Given the description of an element on the screen output the (x, y) to click on. 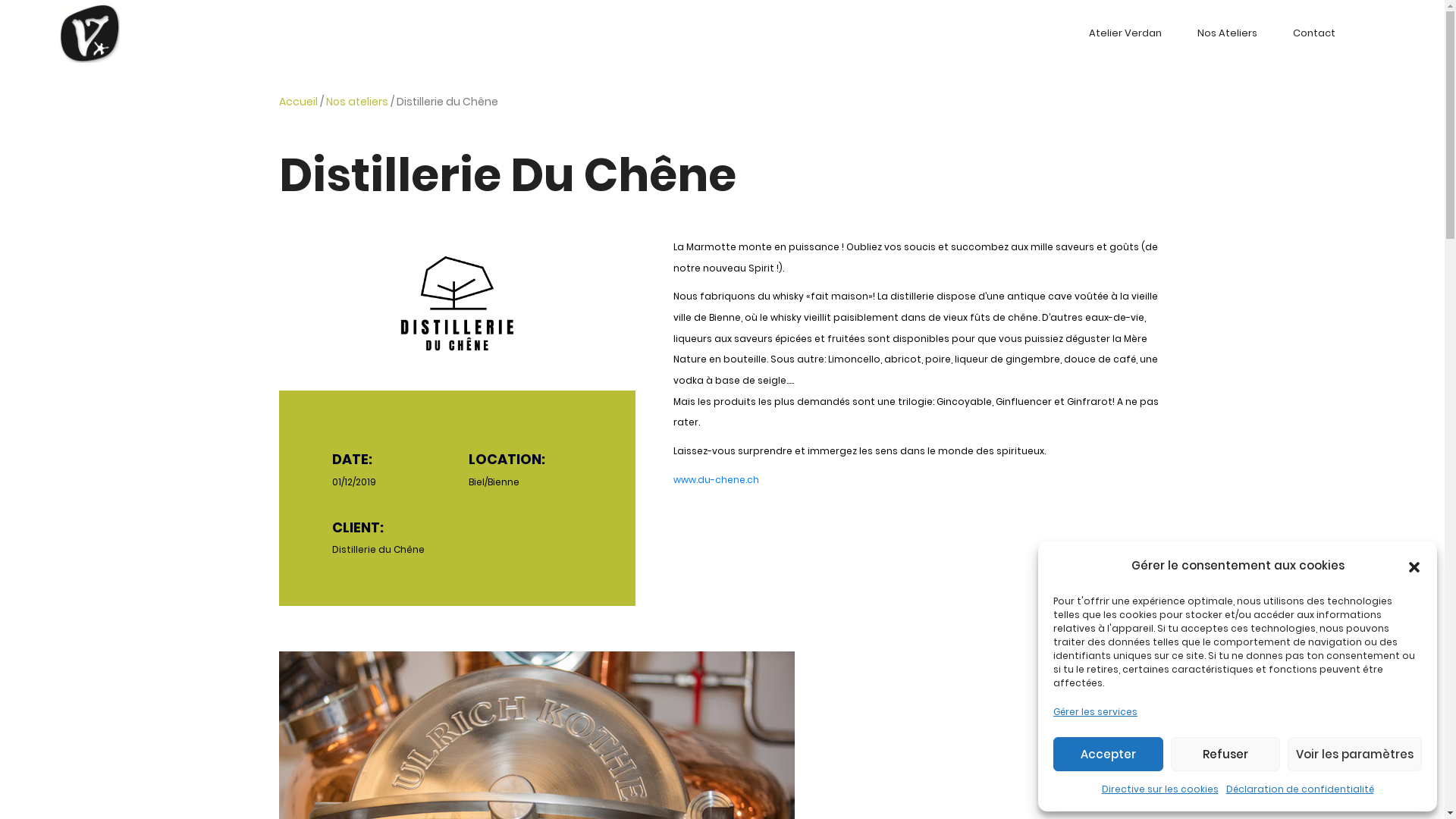
Accueil Element type: text (298, 101)
Accepter Element type: text (1108, 754)
Atelier Verdan Element type: text (1125, 33)
Contact Element type: text (1313, 33)
Directive sur les cookies Element type: text (1159, 789)
Refuser Element type: text (1225, 754)
Nos Ateliers Element type: text (1226, 33)
www.du-chene.ch Element type: text (716, 479)
Nos ateliers Element type: text (357, 101)
